Given the description of an element on the screen output the (x, y) to click on. 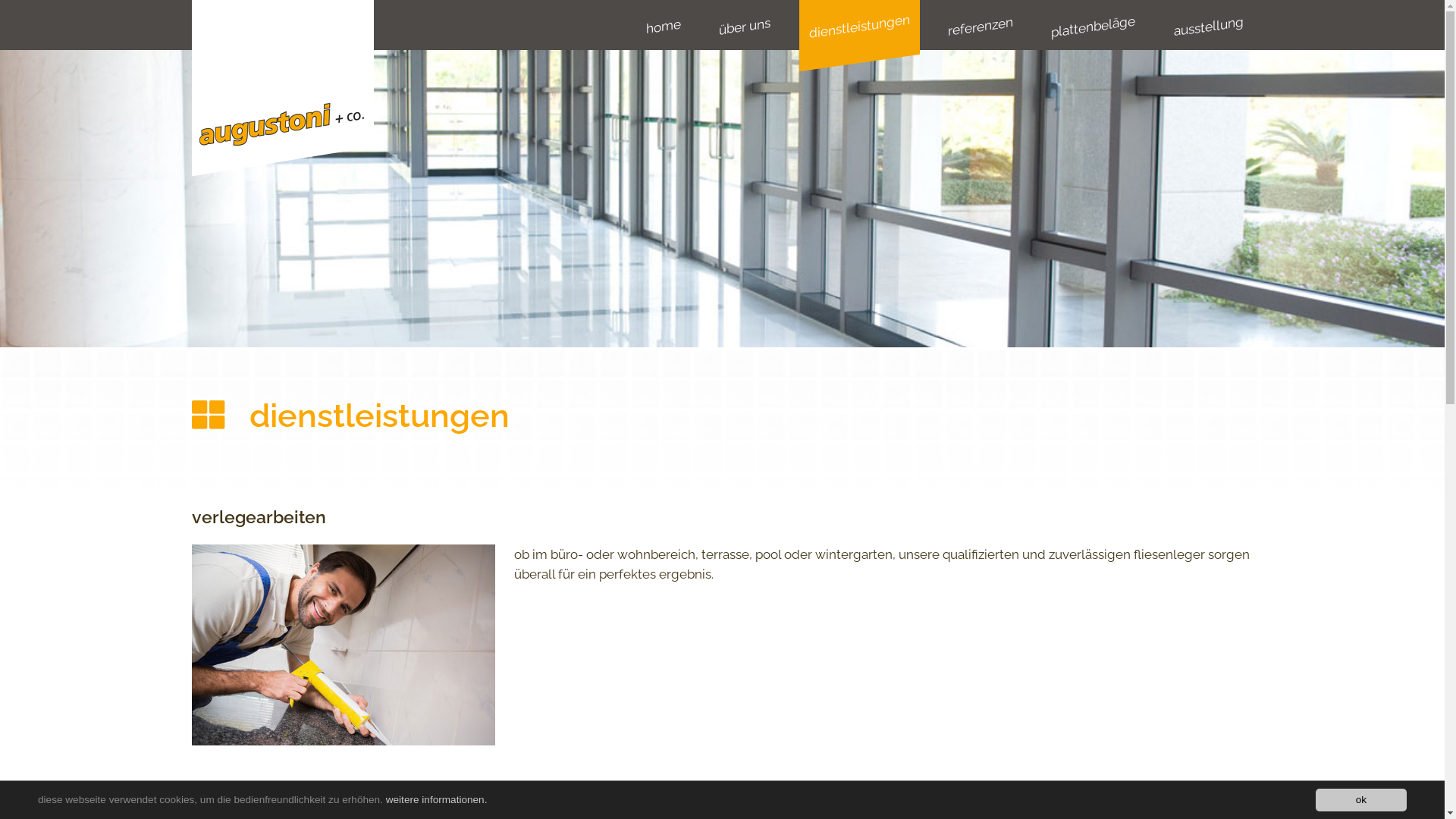
weitere informationen. Element type: text (436, 799)
ok Element type: text (1360, 799)
HOME Element type: hover (282, 94)
